Given the description of an element on the screen output the (x, y) to click on. 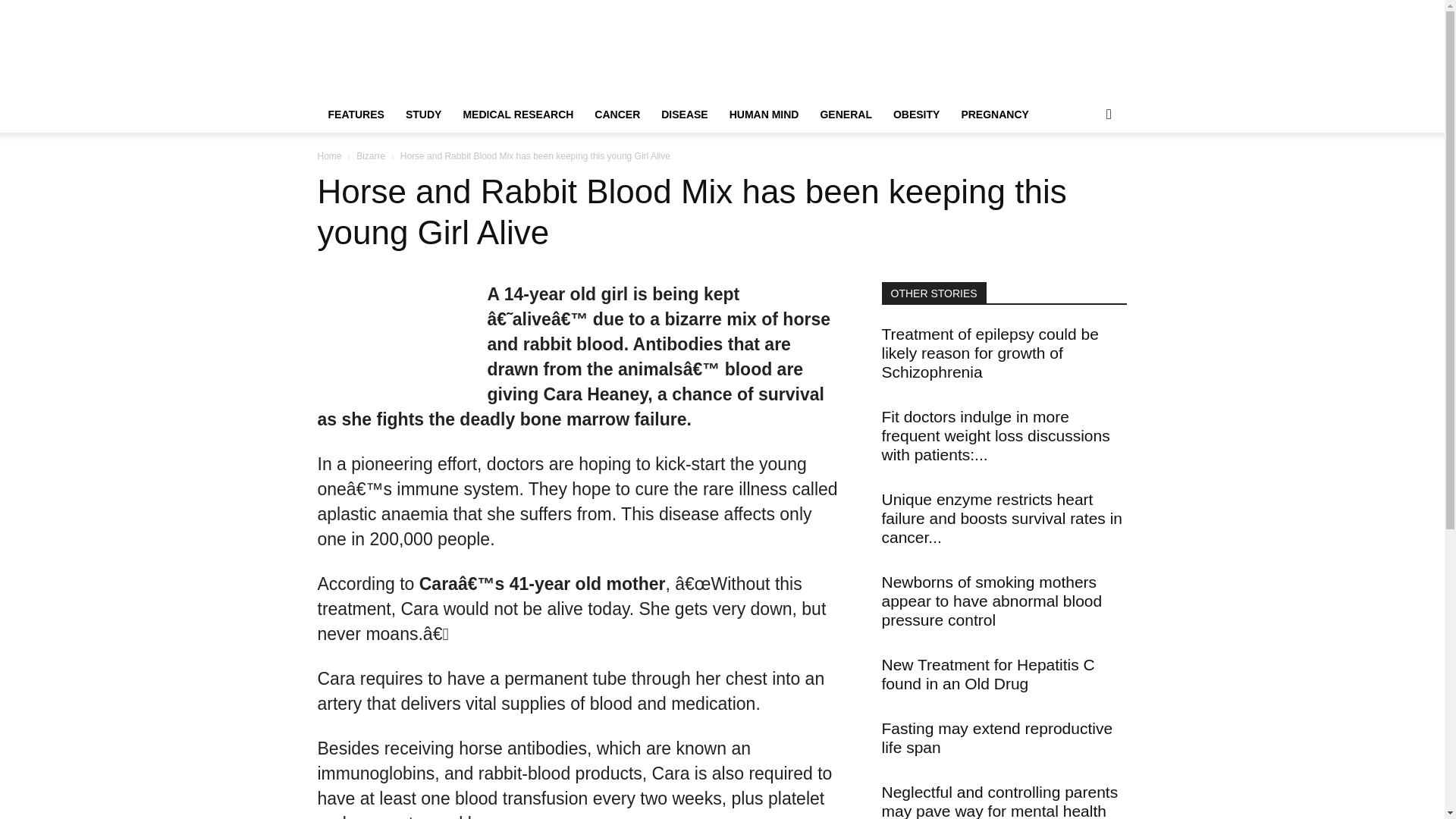
OBESITY (916, 114)
FEATURES (355, 114)
Fasting may extend reproductive life span (996, 737)
View all posts in Bizarre (370, 155)
STUDY (422, 114)
New Treatment for Hepatitis C found in an Old Drug (987, 674)
PREGNANCY (994, 114)
